Given the description of an element on the screen output the (x, y) to click on. 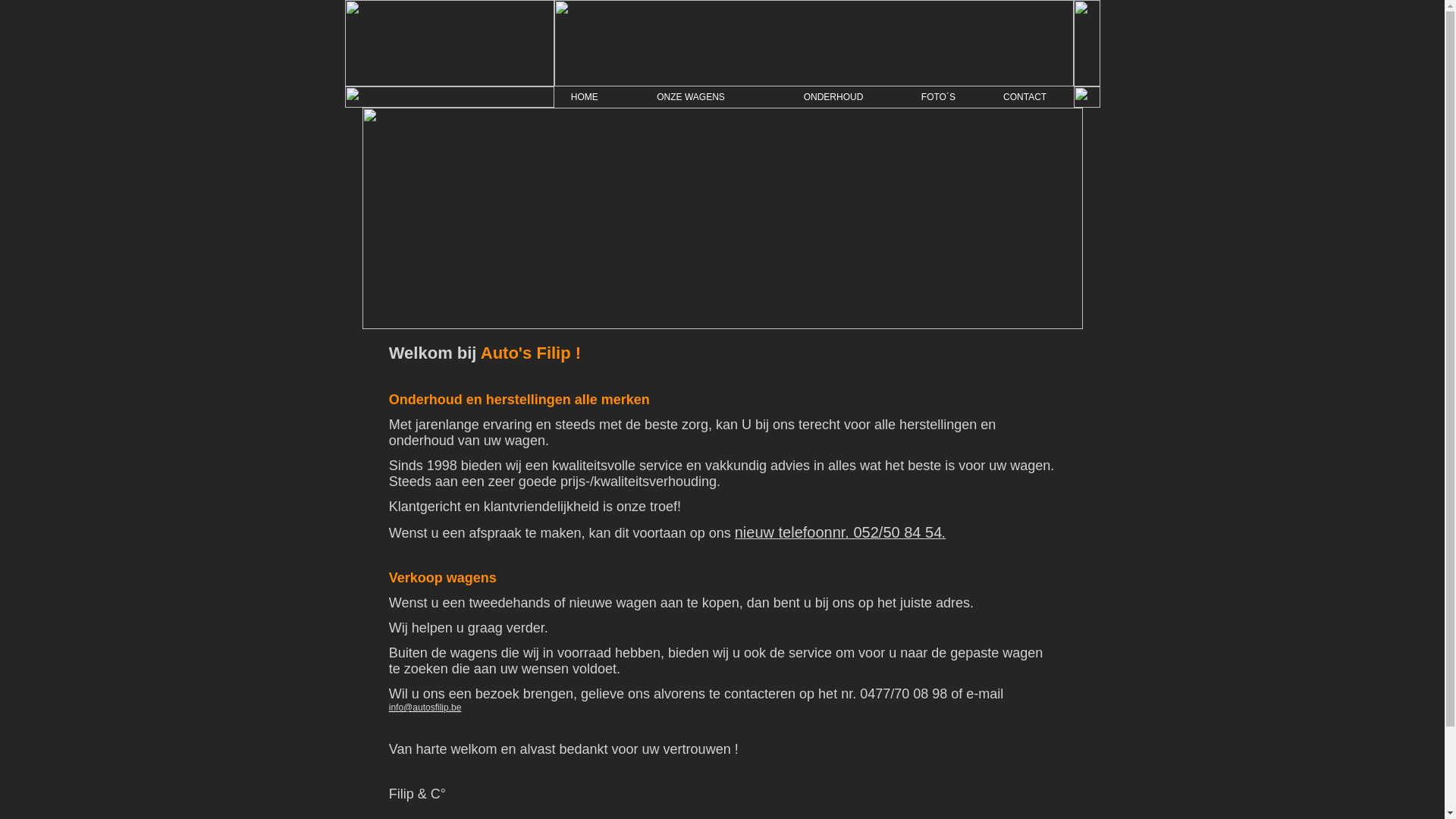
CONTACT Element type: text (1024, 96)
ONDERHOUD Element type: text (833, 96)
info@autosfilip.be Element type: text (425, 707)
ONZE WAGENS Element type: text (690, 96)
HOME Element type: text (584, 96)
